Given the description of an element on the screen output the (x, y) to click on. 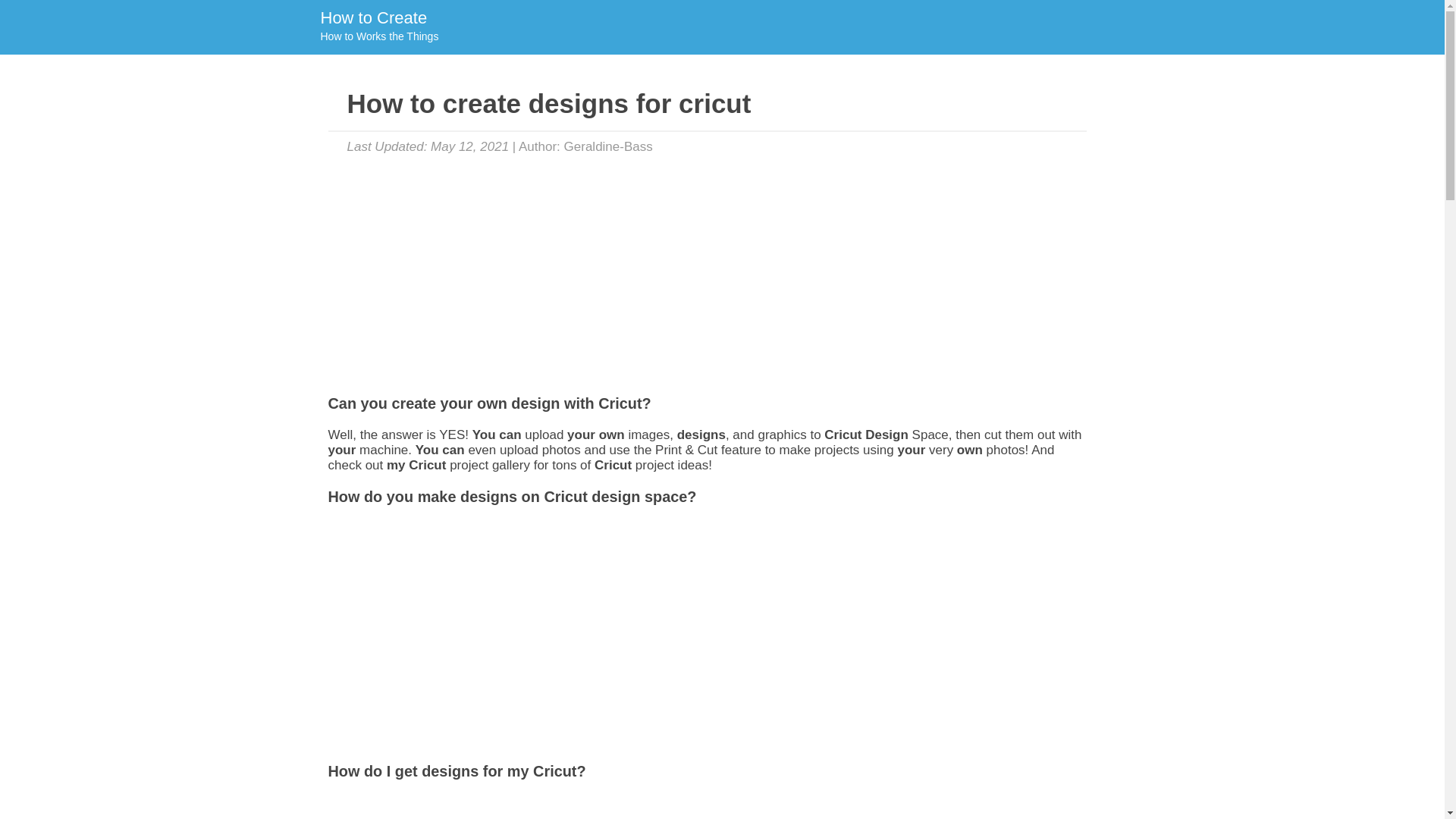
Advertisement (378, 27)
UPLOAD IMAGES TO CRICUT DESIGN SPACE FOR FREE (608, 146)
